Given the description of an element on the screen output the (x, y) to click on. 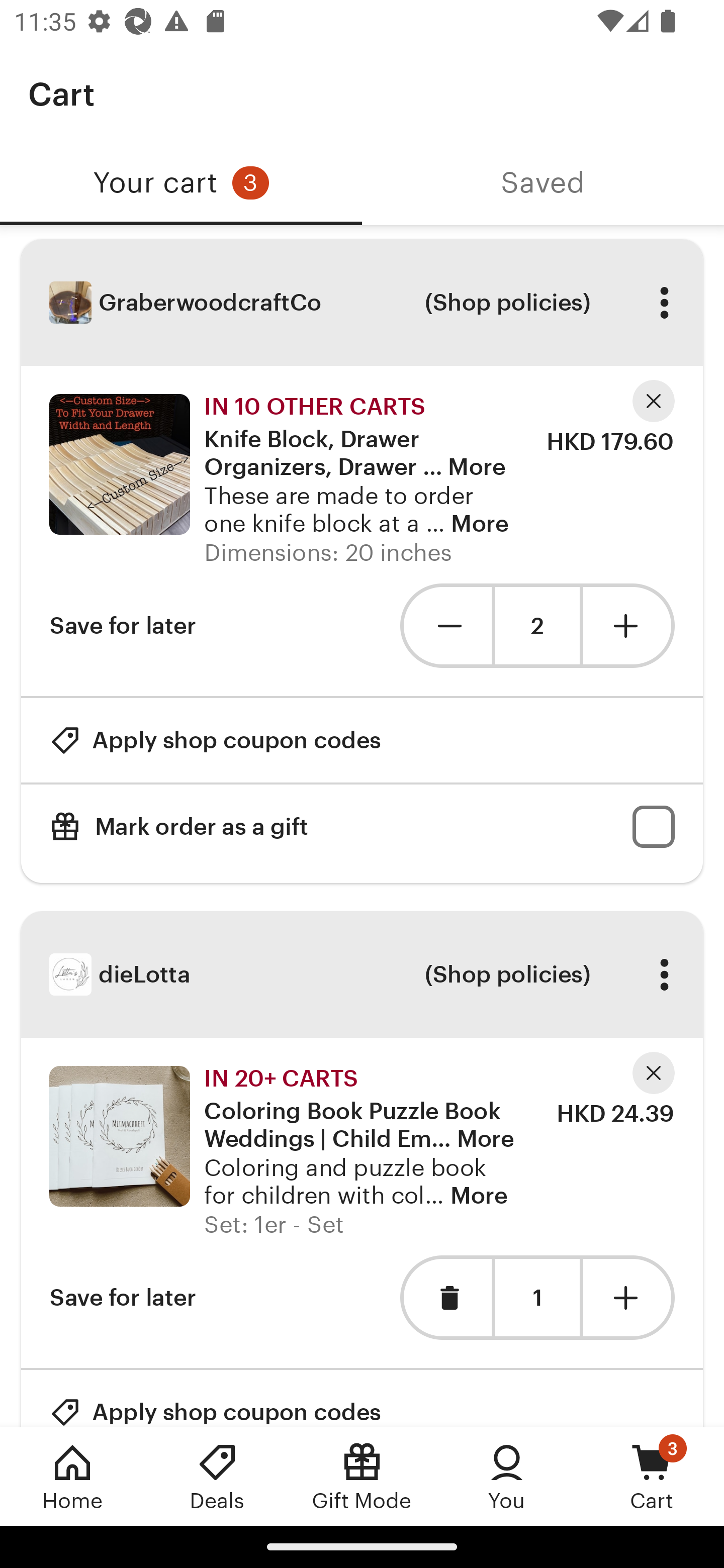
Saved, tab 2 of 2 Saved (543, 183)
GraberwoodcraftCo (Shop policies) More options (361, 302)
(Shop policies) (507, 302)
More options (663, 302)
Save for later (122, 625)
Remove one unit from cart (445, 625)
Add one unit to cart (628, 625)
2 (537, 625)
Apply shop coupon codes (215, 739)
Mark order as a gift (361, 826)
dieLotta (Shop policies) More options (361, 974)
(Shop policies) (507, 974)
More options (663, 974)
Save for later (122, 1297)
Remove item from cart (445, 1297)
Add one unit to cart (628, 1297)
1 (537, 1297)
Apply shop coupon codes (215, 1398)
Home (72, 1475)
Deals (216, 1475)
Gift Mode (361, 1475)
You (506, 1475)
